Given the description of an element on the screen output the (x, y) to click on. 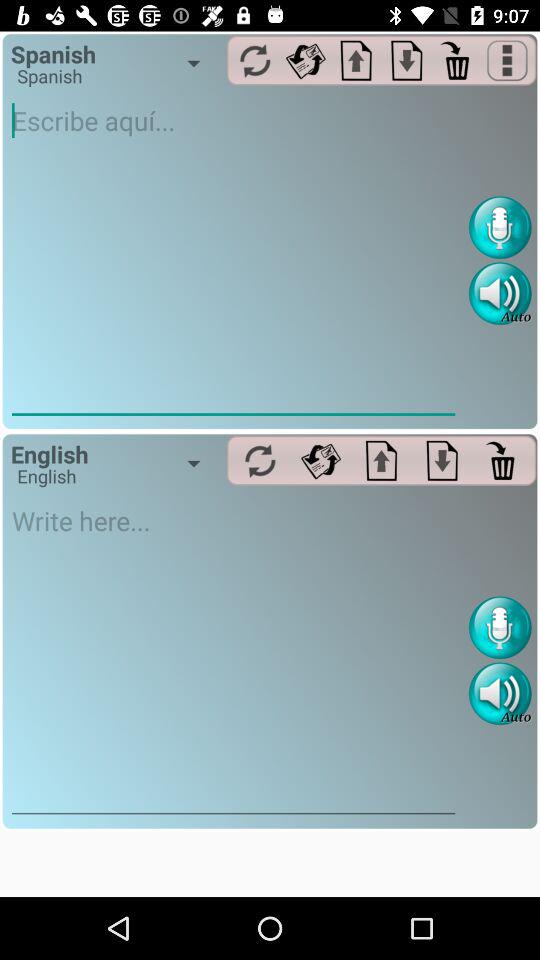
download function (442, 460)
